Given the description of an element on the screen output the (x, y) to click on. 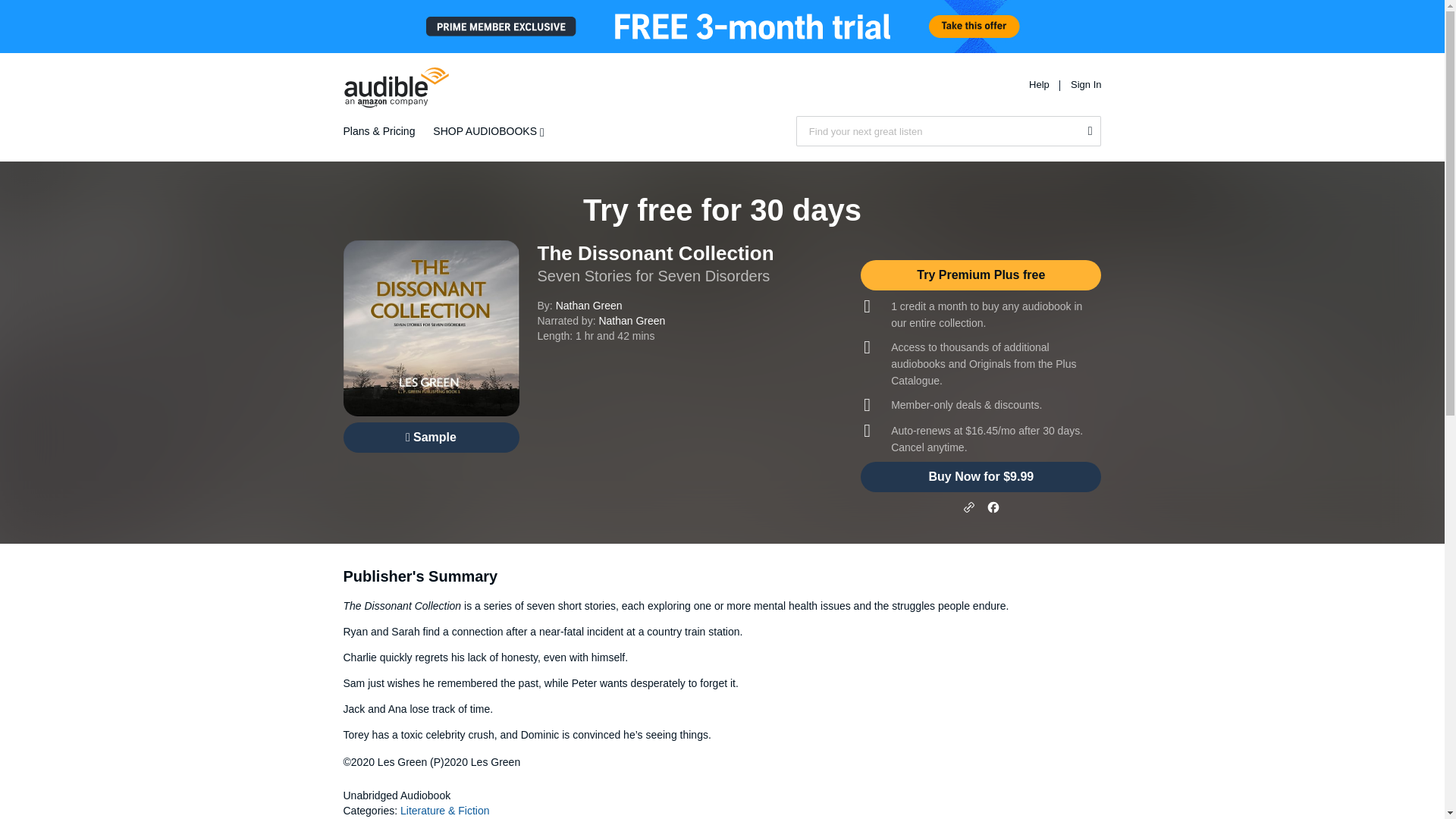
SHOP AUDIOBOOKS (491, 131)
Copy Link (968, 507)
Sample (430, 437)
Help (1040, 84)
Try Premium Plus free (980, 275)
Sign In (1085, 84)
Nathan Green (589, 305)
Nathan Green (631, 320)
Share on Facebook (992, 507)
